Given the description of an element on the screen output the (x, y) to click on. 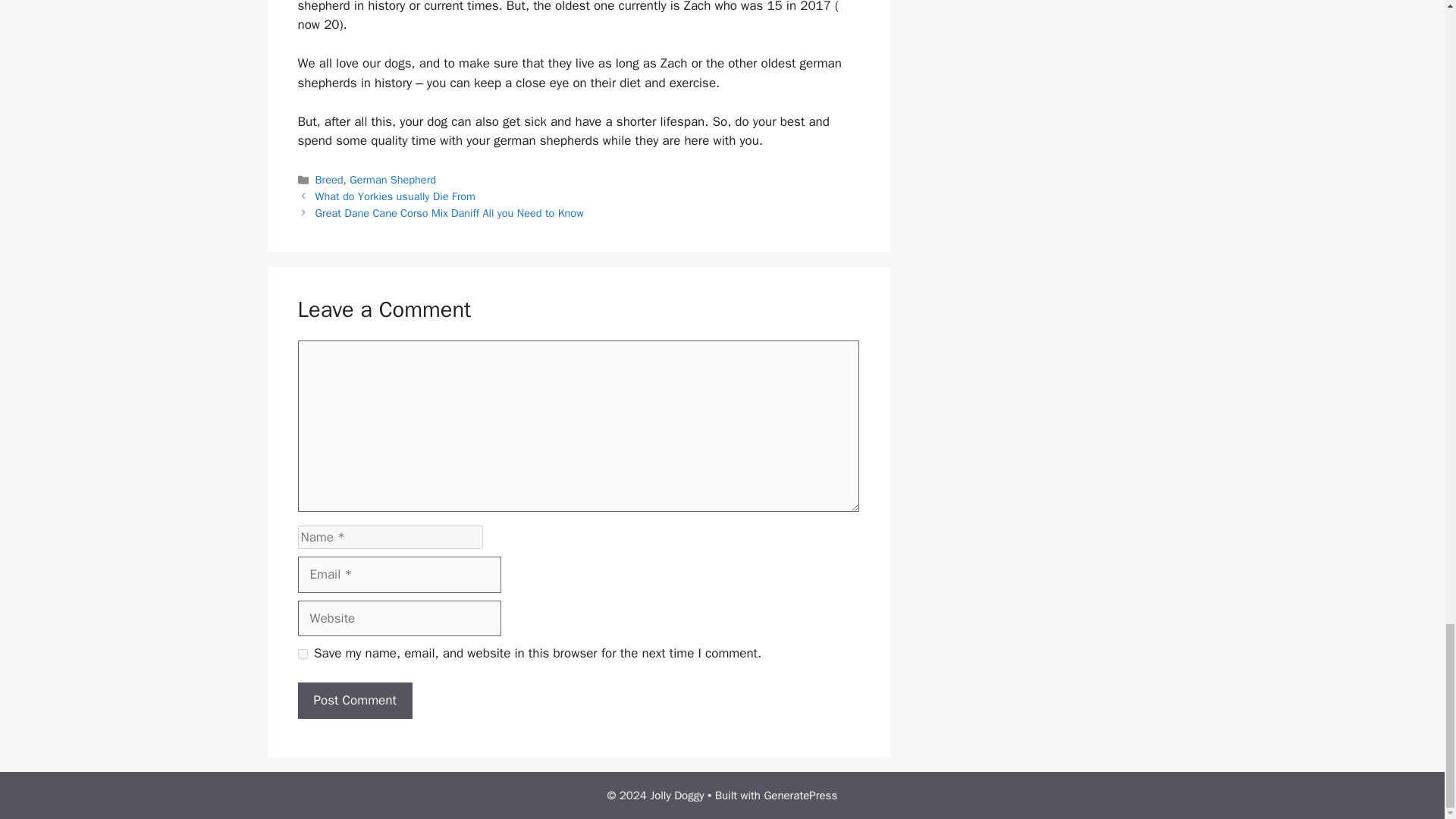
Next (449, 213)
Post Comment (354, 700)
yes (302, 654)
GeneratePress (799, 795)
Post Comment (354, 700)
Breed (329, 179)
Great Dane Cane Corso Mix Daniff All you Need to Know (449, 213)
Previous (395, 196)
What do Yorkies usually Die From (395, 196)
German Shepherd (392, 179)
